Given the description of an element on the screen output the (x, y) to click on. 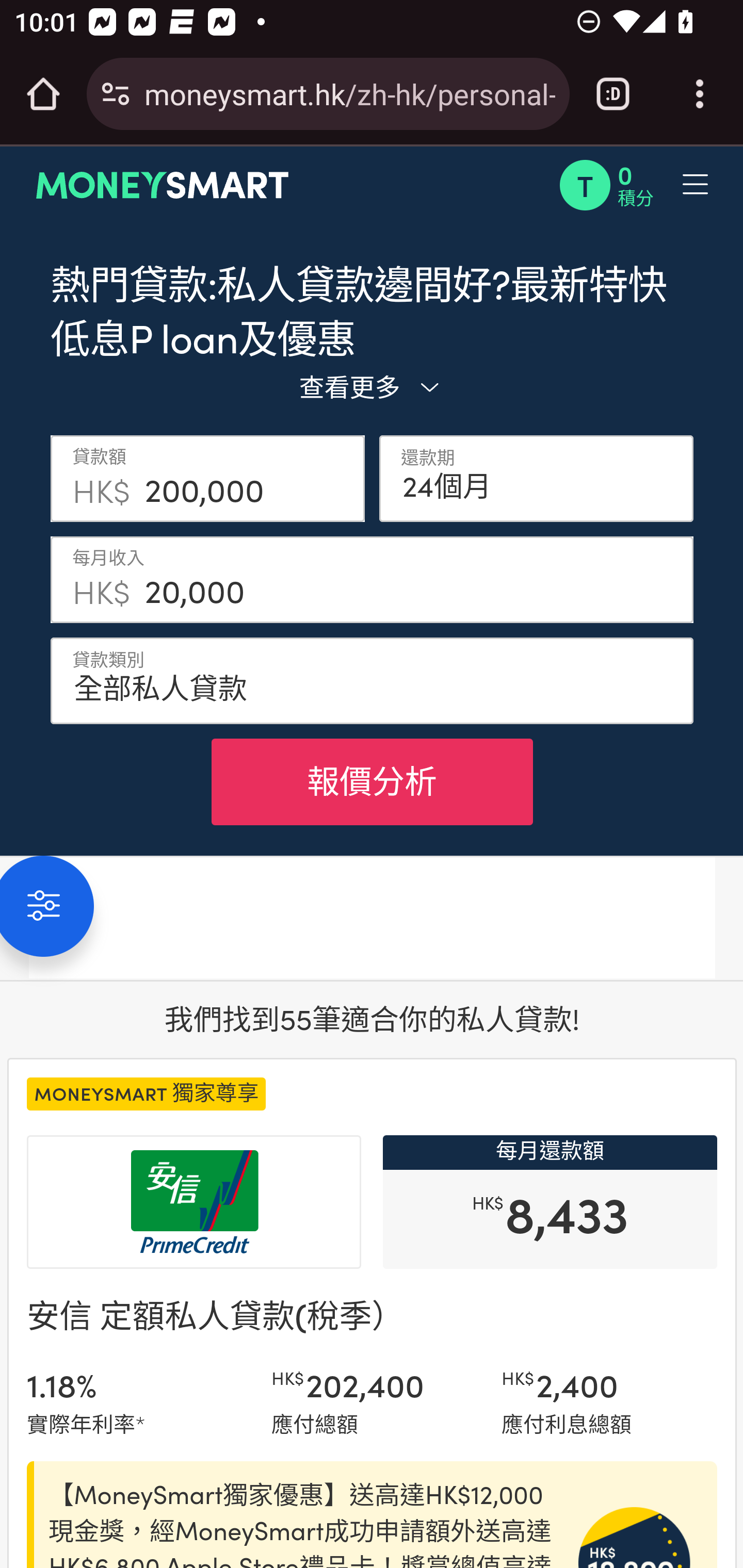
Open the home page (43, 93)
Connection is secure (115, 93)
Switch or close tabs (612, 93)
Customize and control Google Chrome (699, 93)
mobile menu (633, 184)
MoneySmart Logo (162, 184)
查看更多  (371, 385)
200,000 (248, 477)
還款期 (536, 477)
報價分析 (371, 781)
 安信信貸 logo (193, 1201)
安信 定額私人貸款(稅季） (215, 1313)
